Given the description of an element on the screen output the (x, y) to click on. 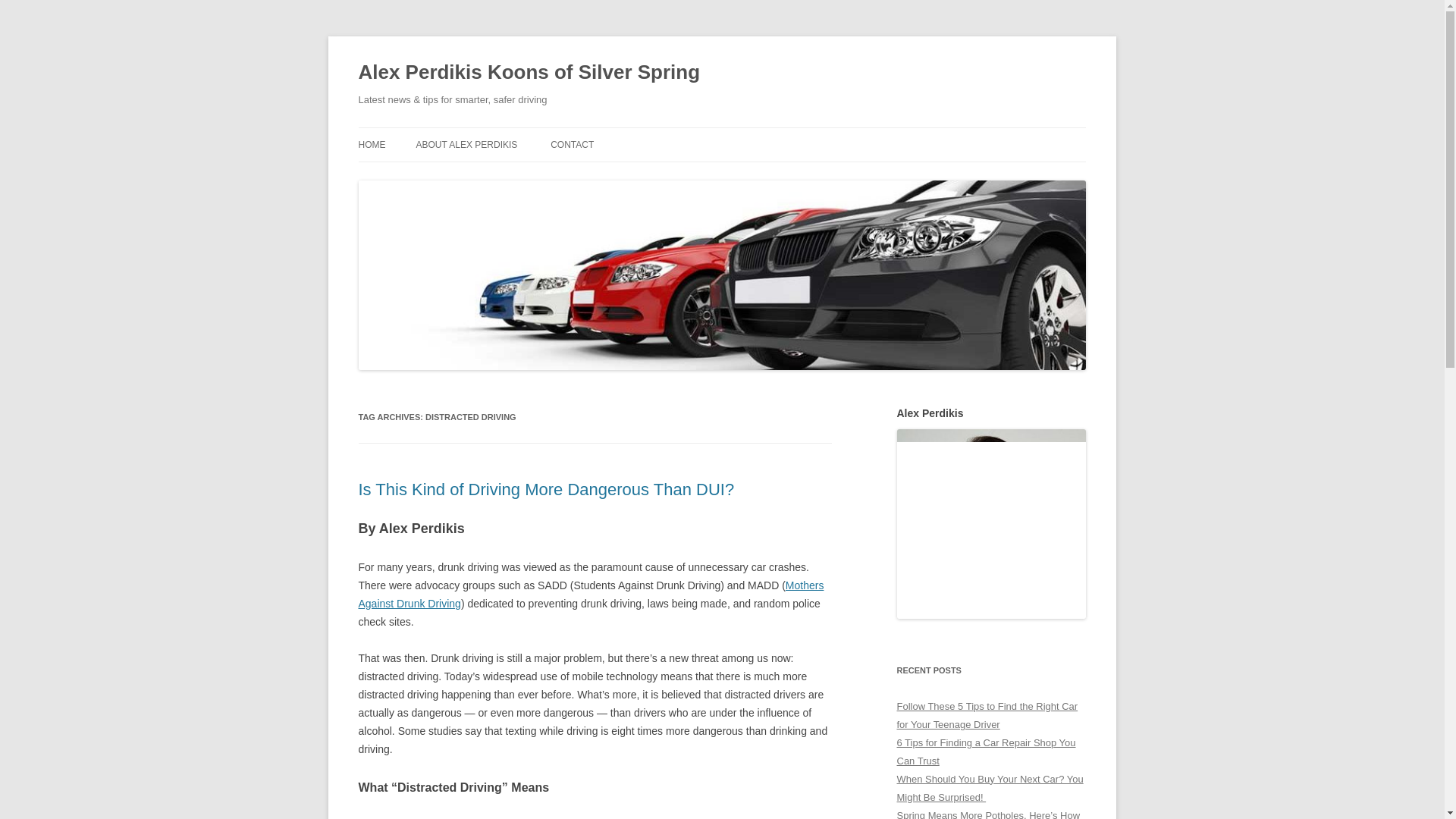
Is This Kind of Driving More Dangerous Than DUI? (545, 488)
6 Tips for Finding a Car Repair Shop You Can Trust (985, 751)
Mothers Against Drunk Driving (591, 594)
5 SMALL BUSINESS TIPS FOR EFFECTIVE CHARITABLE GIVING (490, 185)
When Should You Buy Your Next Car? You Might Be Surprised!  (989, 788)
Alex Perdikis Koons of Silver Spring (529, 72)
Alex Perdikis Koons of Silver Spring (529, 72)
CONTACT (572, 144)
ABOUT ALEX PERDIKIS (465, 144)
HOME (371, 144)
